Given the description of an element on the screen output the (x, y) to click on. 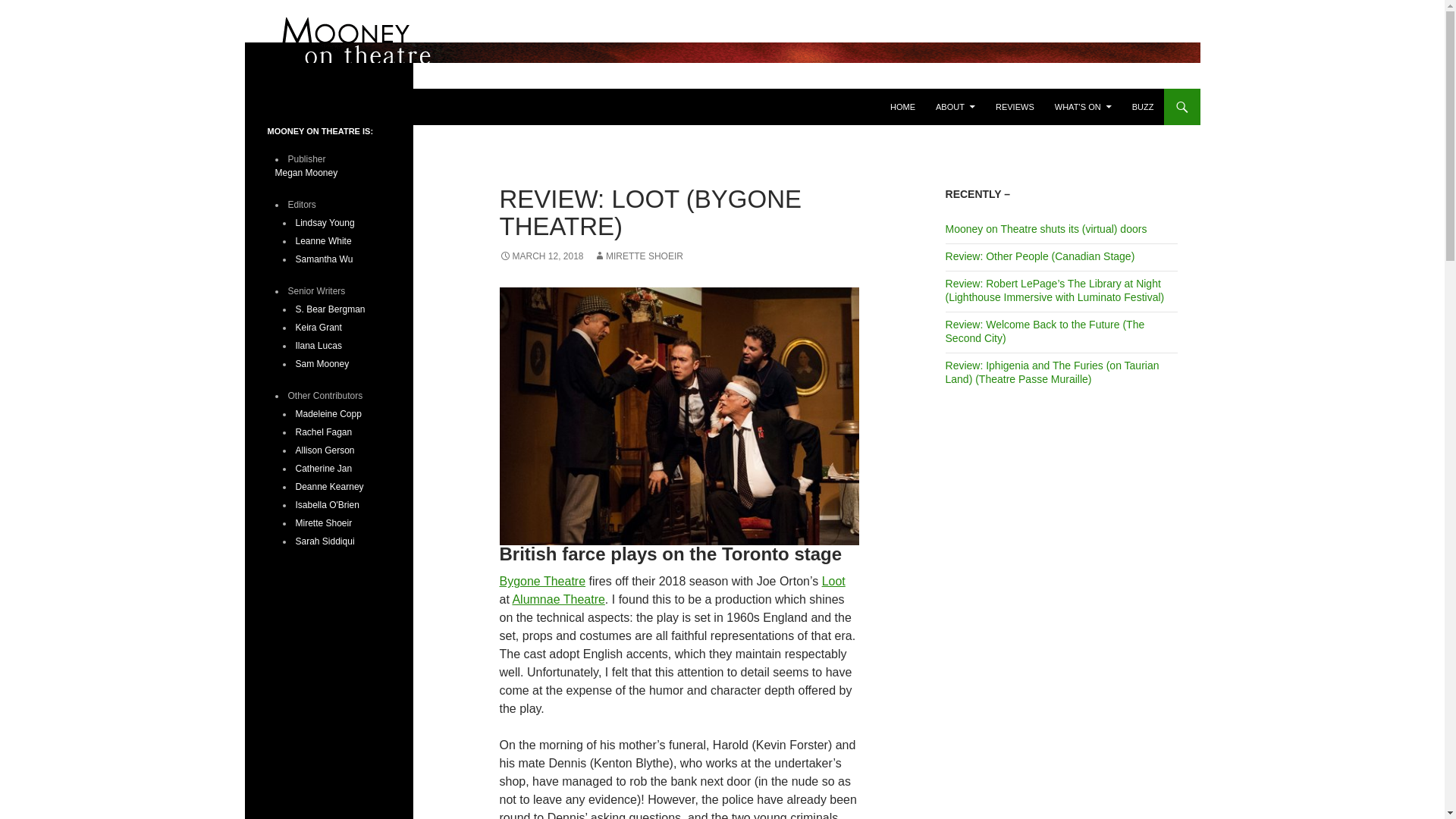
Keira Grant (318, 327)
S. Bear Bergman (330, 308)
Lindsay Young (325, 222)
Ilana Lucas (318, 345)
REVIEWS (1015, 106)
Samantha Wu (324, 258)
ABOUT (955, 106)
HOME (902, 106)
BUZZ (1142, 106)
MIRETTE SHOEIR (638, 255)
Alumnae Theatre (558, 599)
MARCH 12, 2018 (541, 255)
Megan Mooney (306, 172)
